Given the description of an element on the screen output the (x, y) to click on. 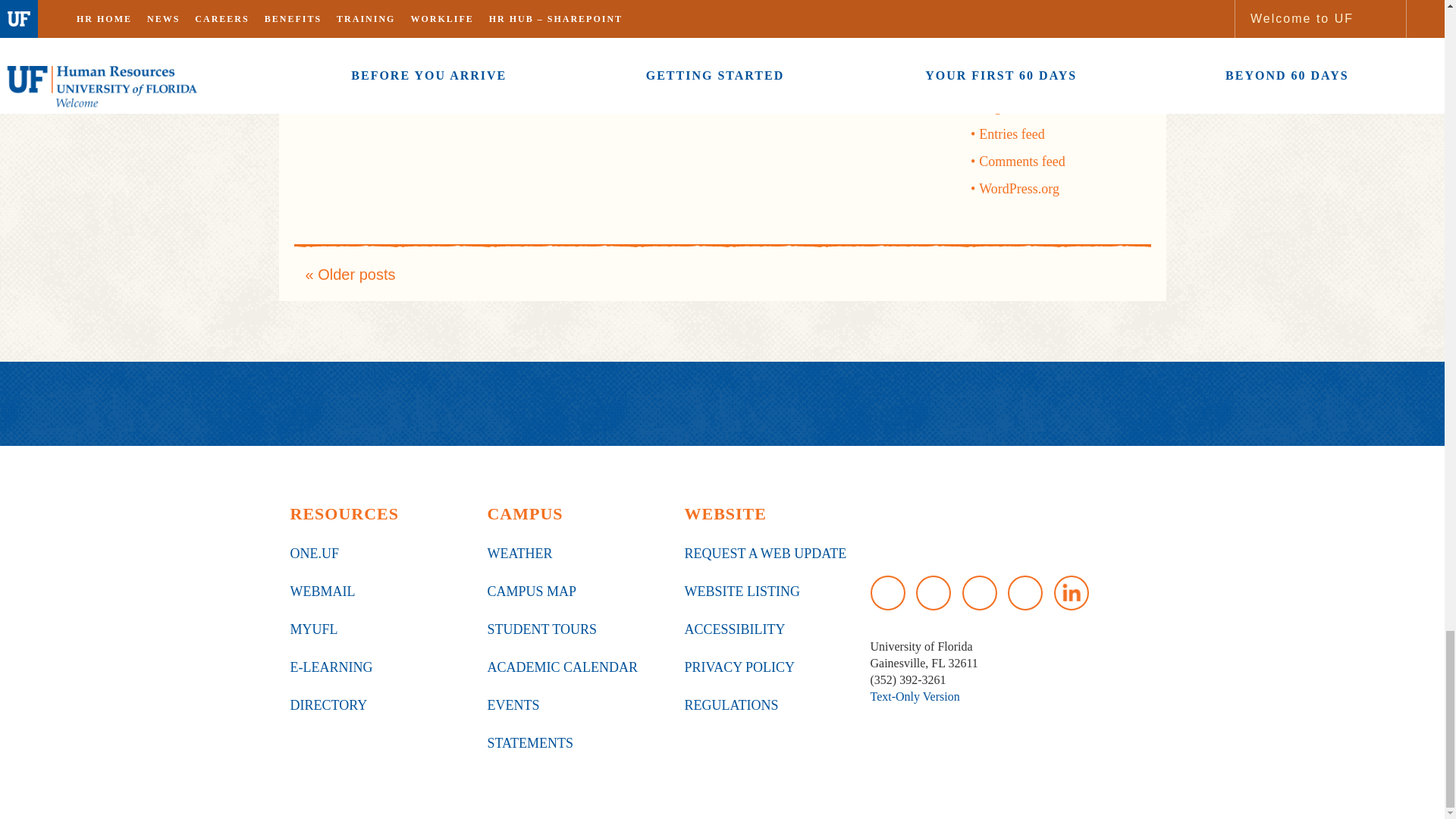
LinkedIn (1071, 592)
